Given the description of an element on the screen output the (x, y) to click on. 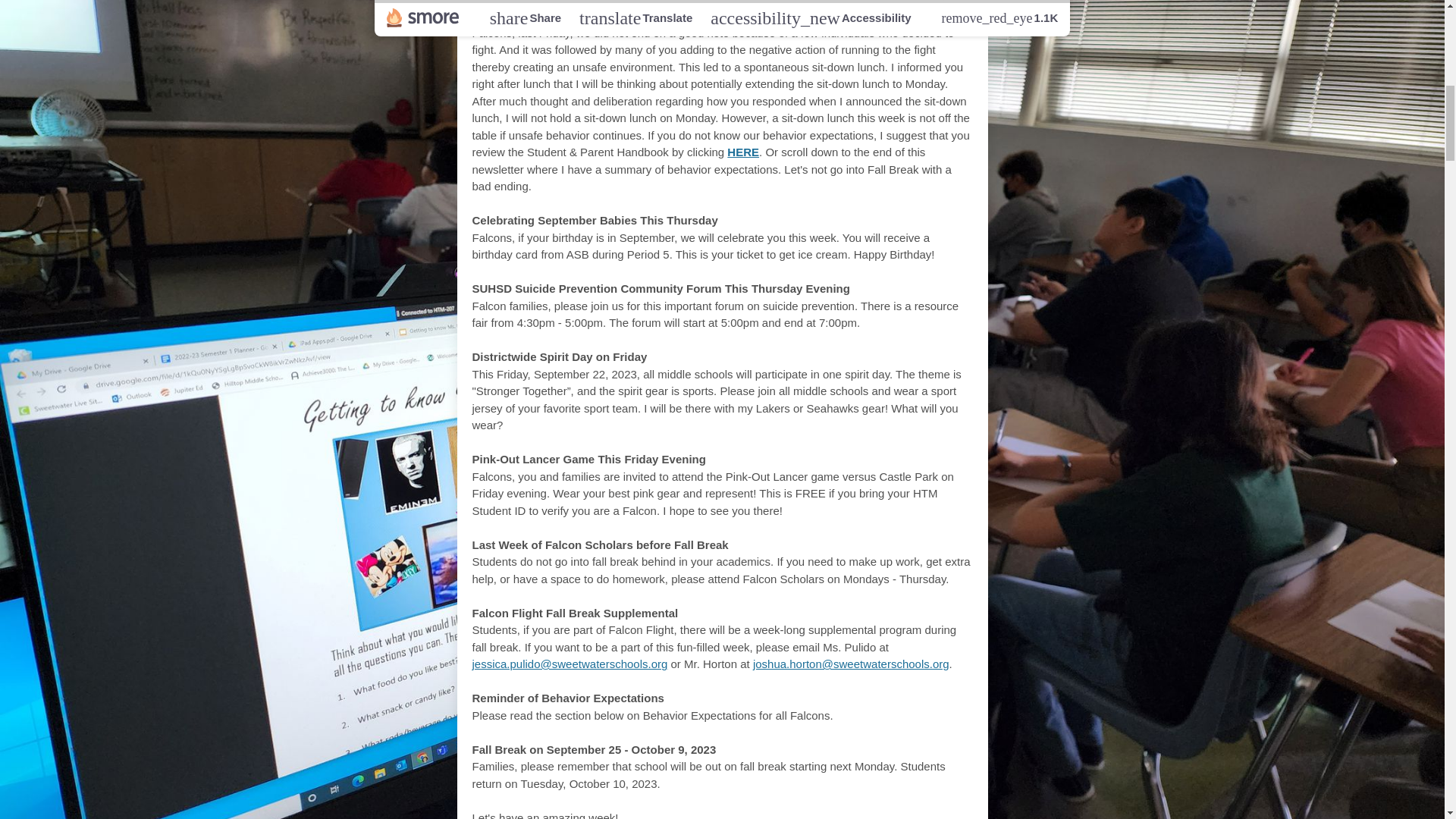
HERE (742, 151)
